Given the description of an element on the screen output the (x, y) to click on. 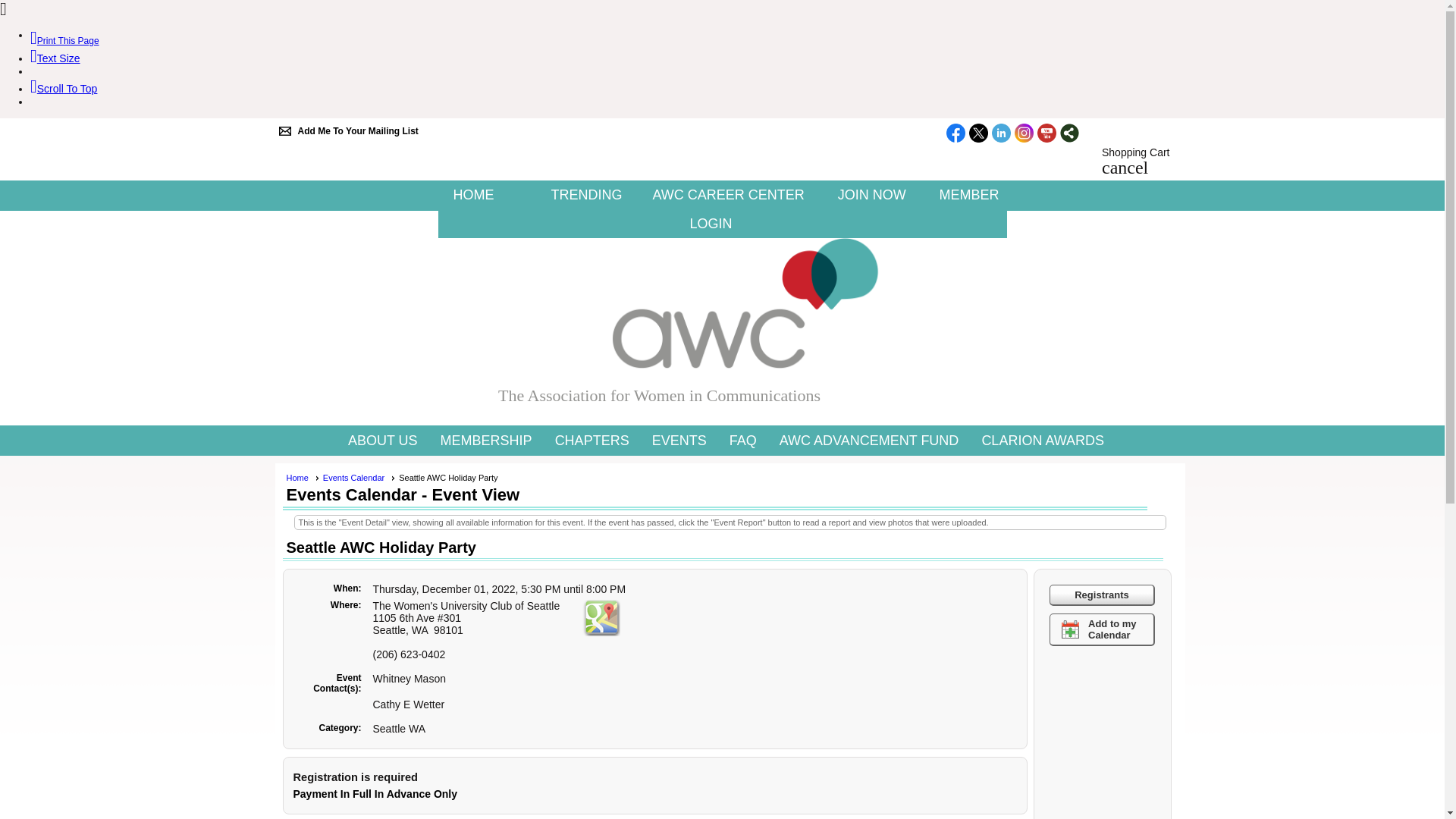
Click here for more sharing options (1068, 132)
HOME        (486, 194)
AWC CAREER CENTER (727, 194)
TRENDING (585, 194)
MEMBER LOGIN (843, 209)
Click 'Google Maps' for a map and directions to the event (601, 617)
cancel (1125, 169)
Visit us on Instagram (1023, 133)
Visit us on Facebook (955, 133)
JOIN NOW (871, 194)
